Given the description of an element on the screen output the (x, y) to click on. 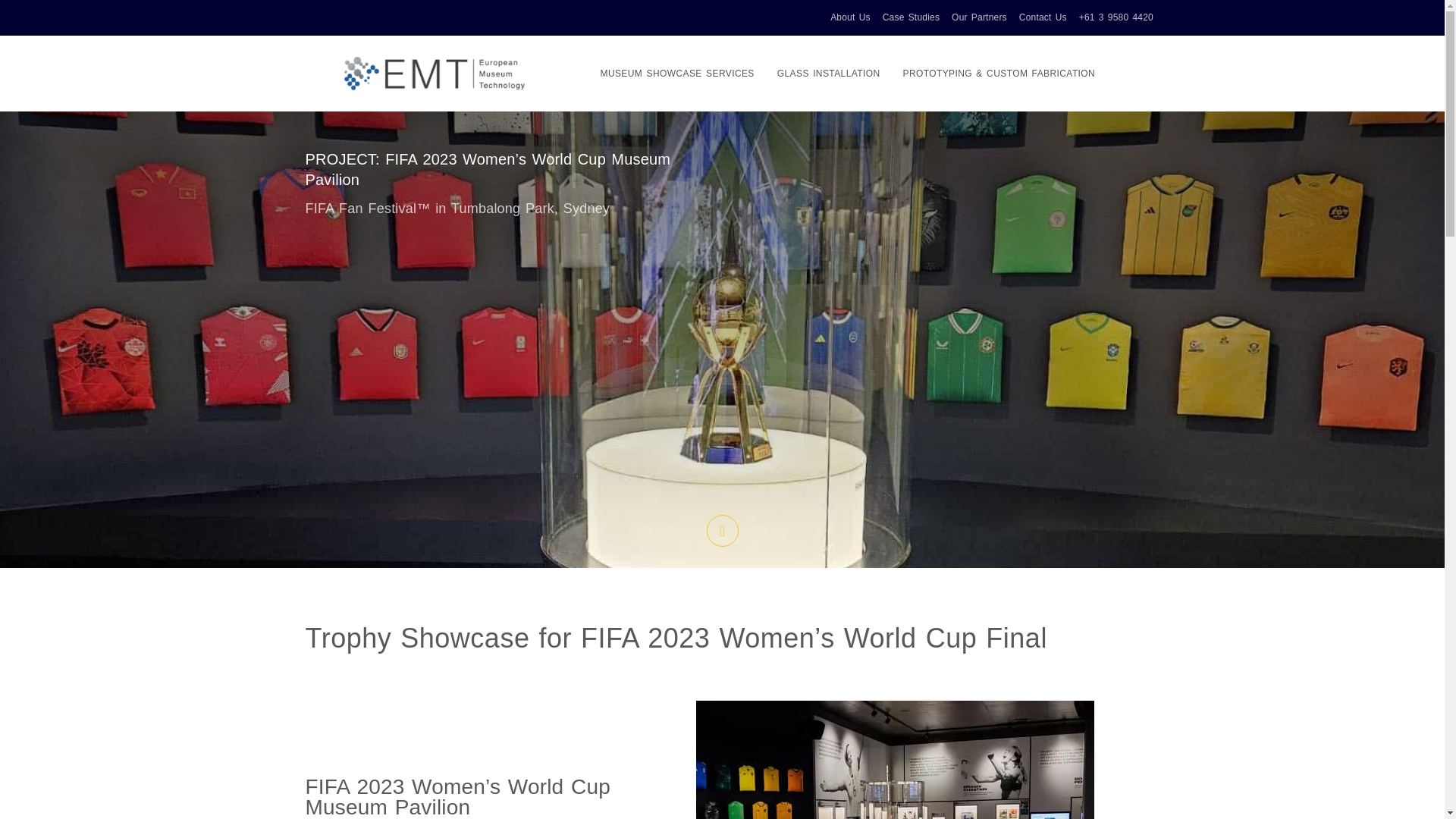
MUSEUM SHOWCASE SERVICES (676, 73)
GLASS INSTALLATION (828, 73)
Our Partners (979, 17)
Case Studies (910, 17)
Contact Us (1043, 17)
About Us (849, 17)
